Given the description of an element on the screen output the (x, y) to click on. 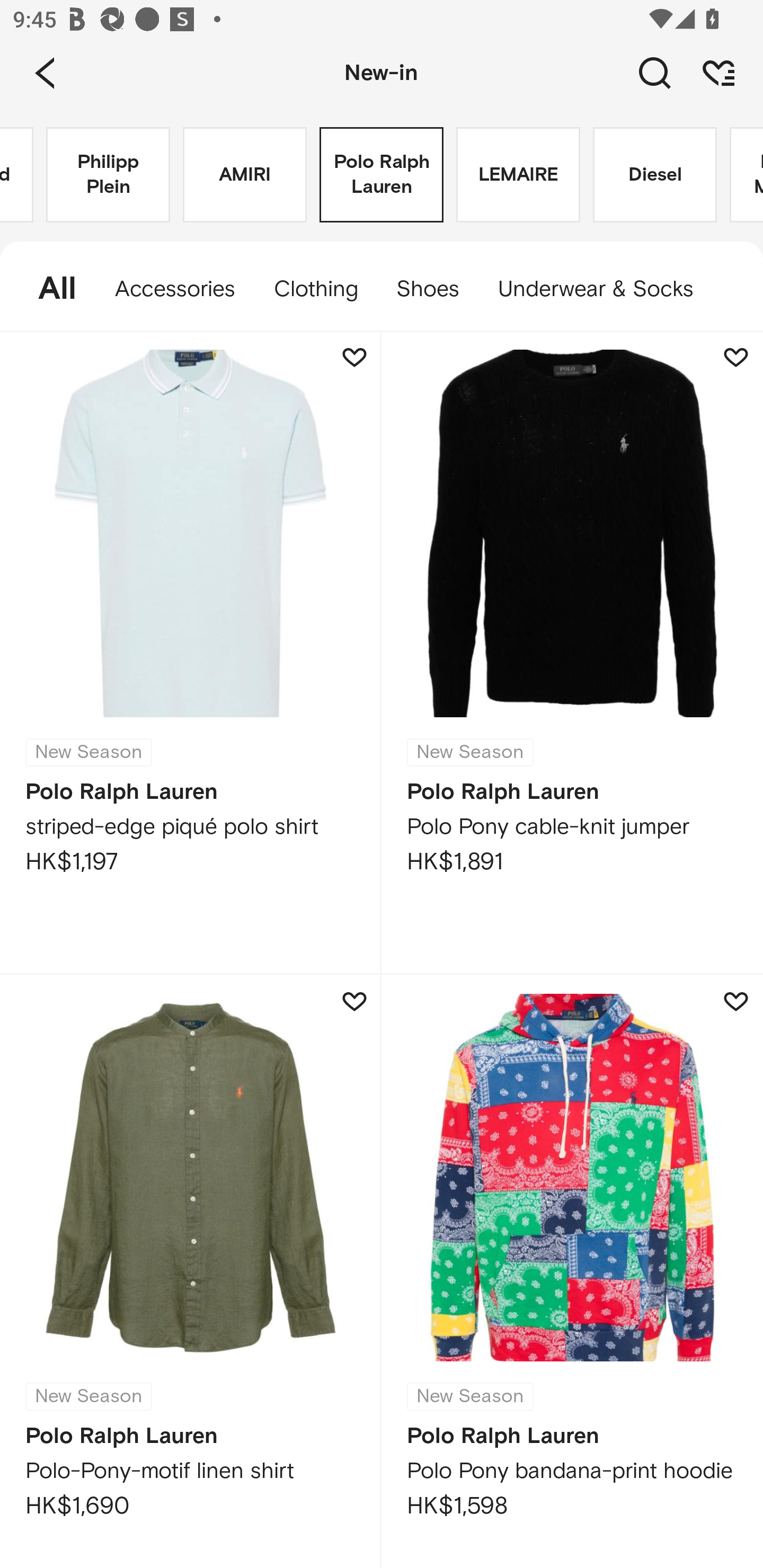
Philipp Plein (107, 174)
AMIRI (244, 174)
Polo Ralph Lauren (381, 174)
LEMAIRE (517, 174)
Diesel (654, 174)
All (47, 288)
Accessories (174, 288)
Clothing (315, 288)
Shoes (427, 288)
Underwear & Socks (604, 288)
